Given the description of an element on the screen output the (x, y) to click on. 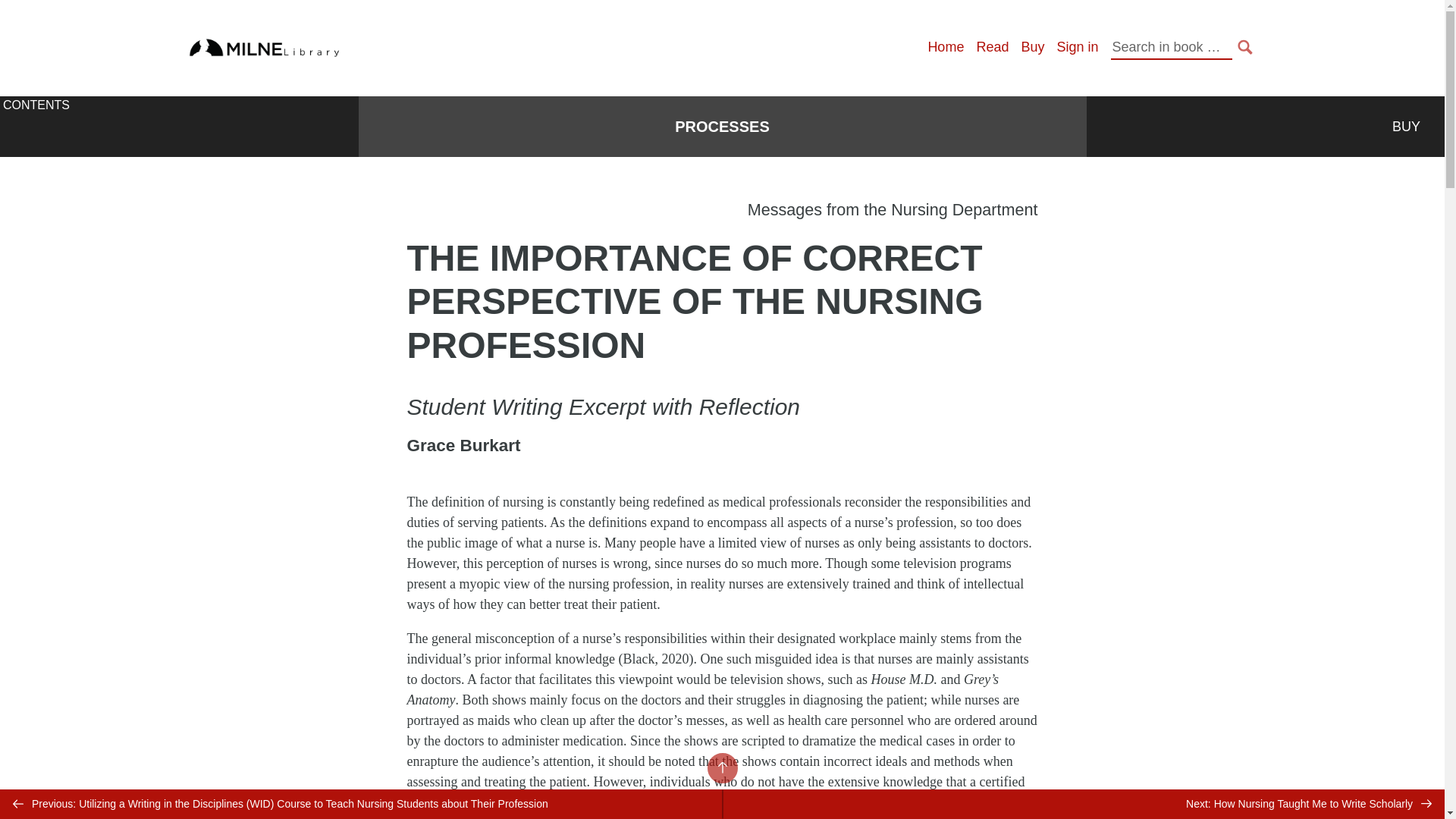
PROCESSES (721, 126)
Read (992, 46)
Home (945, 46)
BUY (1406, 127)
BACK TO TOP (721, 767)
Sign in (1077, 46)
Buy (1031, 46)
